Given the description of an element on the screen output the (x, y) to click on. 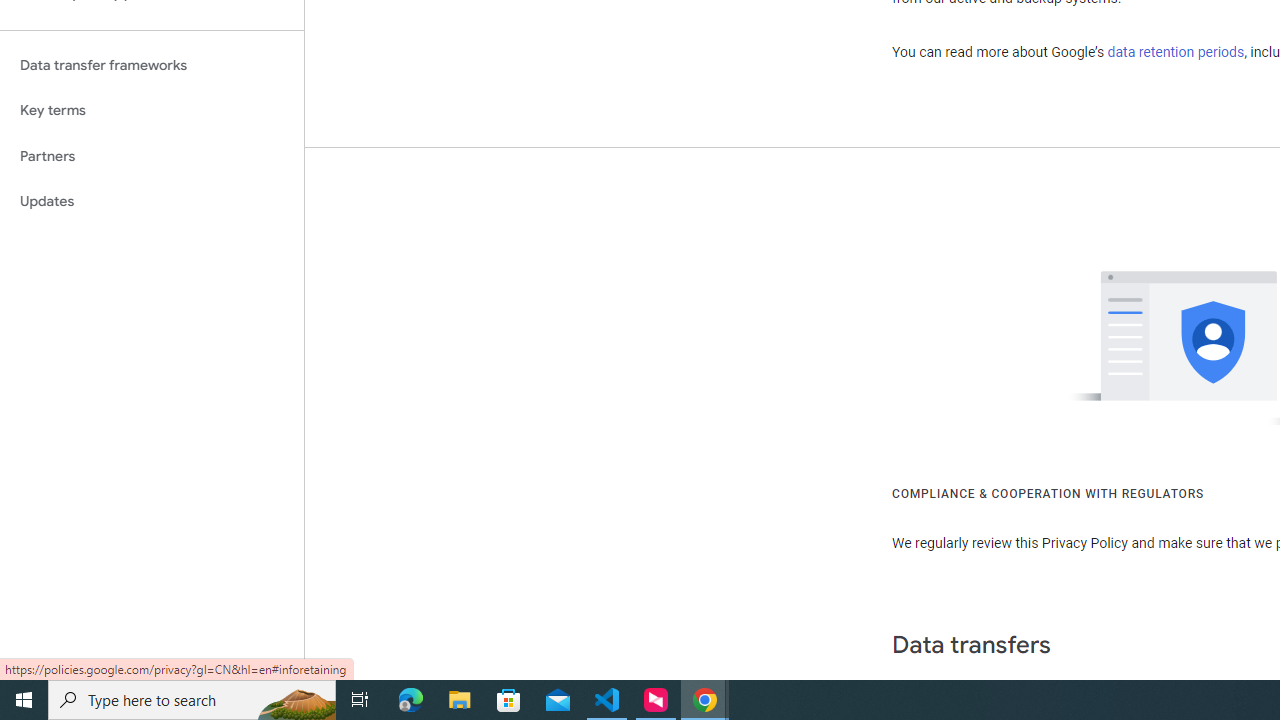
Partners (152, 156)
Updates (152, 201)
Key terms (152, 110)
data retention periods (1176, 52)
Data transfer frameworks (152, 65)
